Given the description of an element on the screen output the (x, y) to click on. 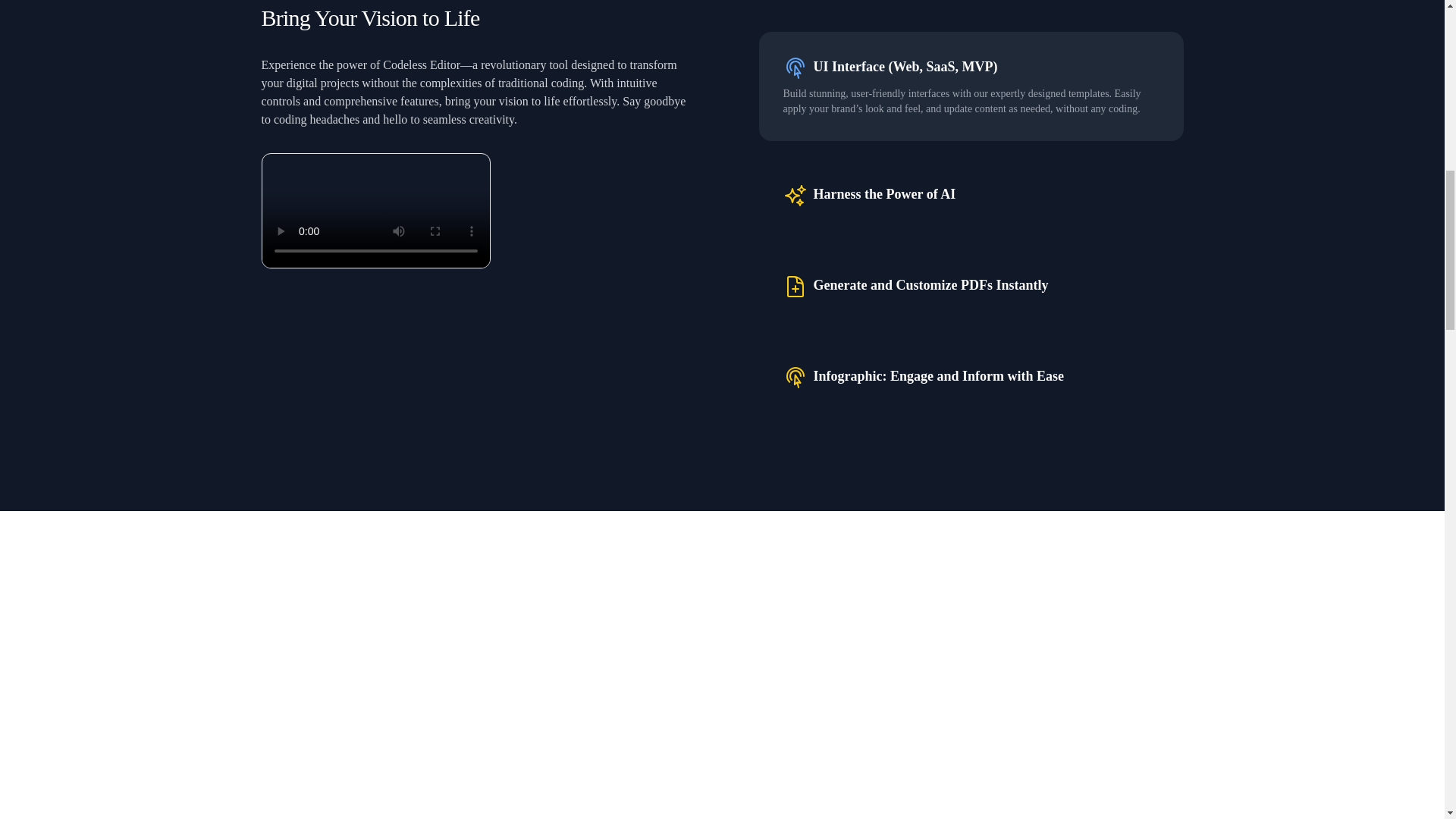
Infographic: Engage and Inform with Ease (938, 375)
Harness the Power of AI (883, 193)
Generate and Customize PDFs Instantly (930, 284)
